Given the description of an element on the screen output the (x, y) to click on. 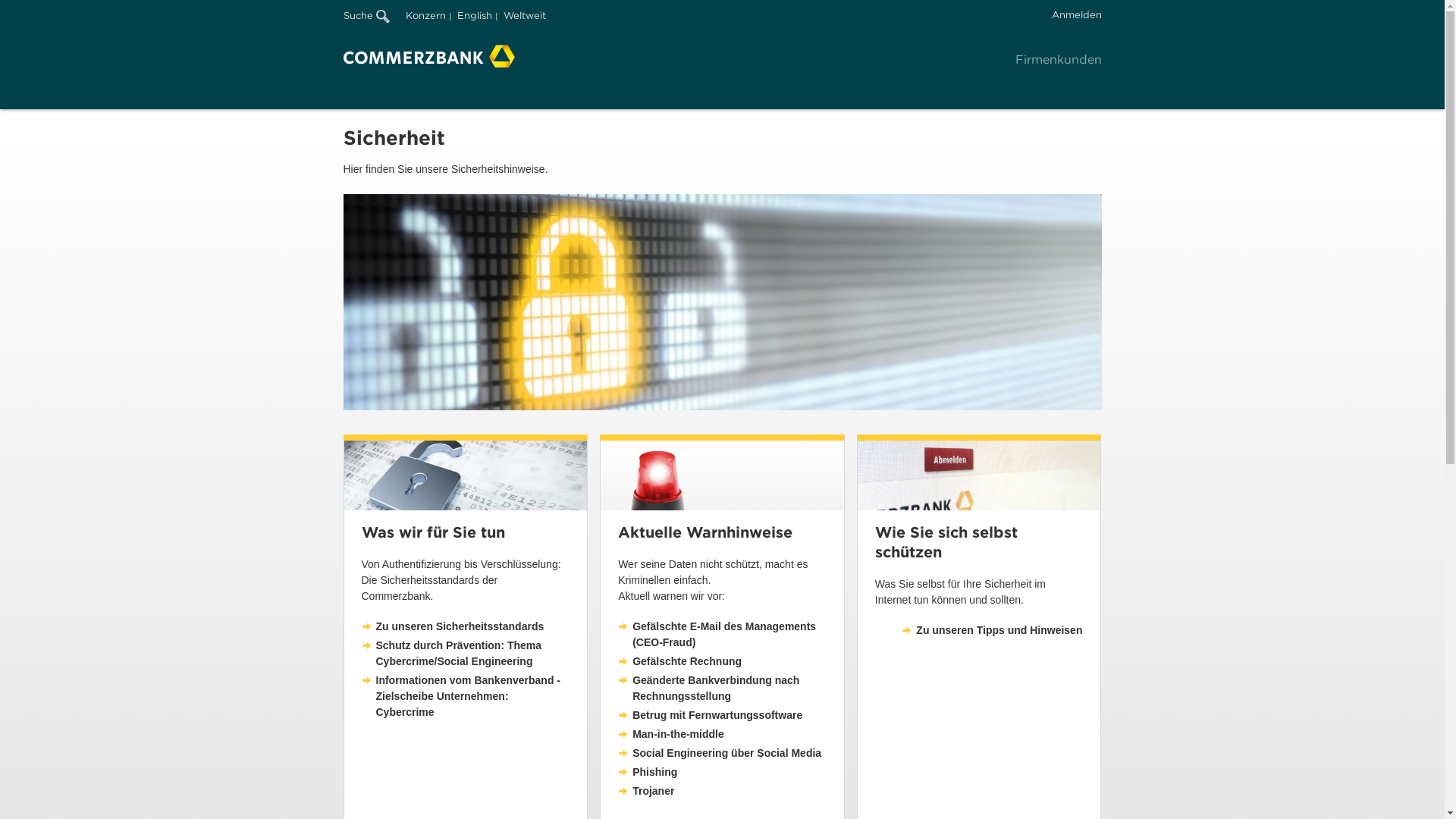
Die Sicherheitsstandards der Commerzbank Element type: hover (465, 475)
Phishing Element type: text (647, 772)
Weltweit Element type: text (524, 15)
Suche Element type: text (372, 11)
Zu unseren Sicherheitsstandards Element type: text (451, 626)
Aktuelle Warnhinweise Element type: hover (722, 475)
Firmenkunden Element type: text (1057, 59)
Suche Element type: text (365, 15)
Man-in-the-middle Element type: text (671, 734)
English Element type: text (473, 15)
Betrug mit Fernwartungssoftware Element type: text (710, 715)
Zur Commerzbank AG Webseite Element type: hover (428, 55)
Trojaner Element type: text (646, 791)
Anmelden Element type: text (1076, 15)
Konzern Element type: text (424, 15)
